Given the description of an element on the screen output the (x, y) to click on. 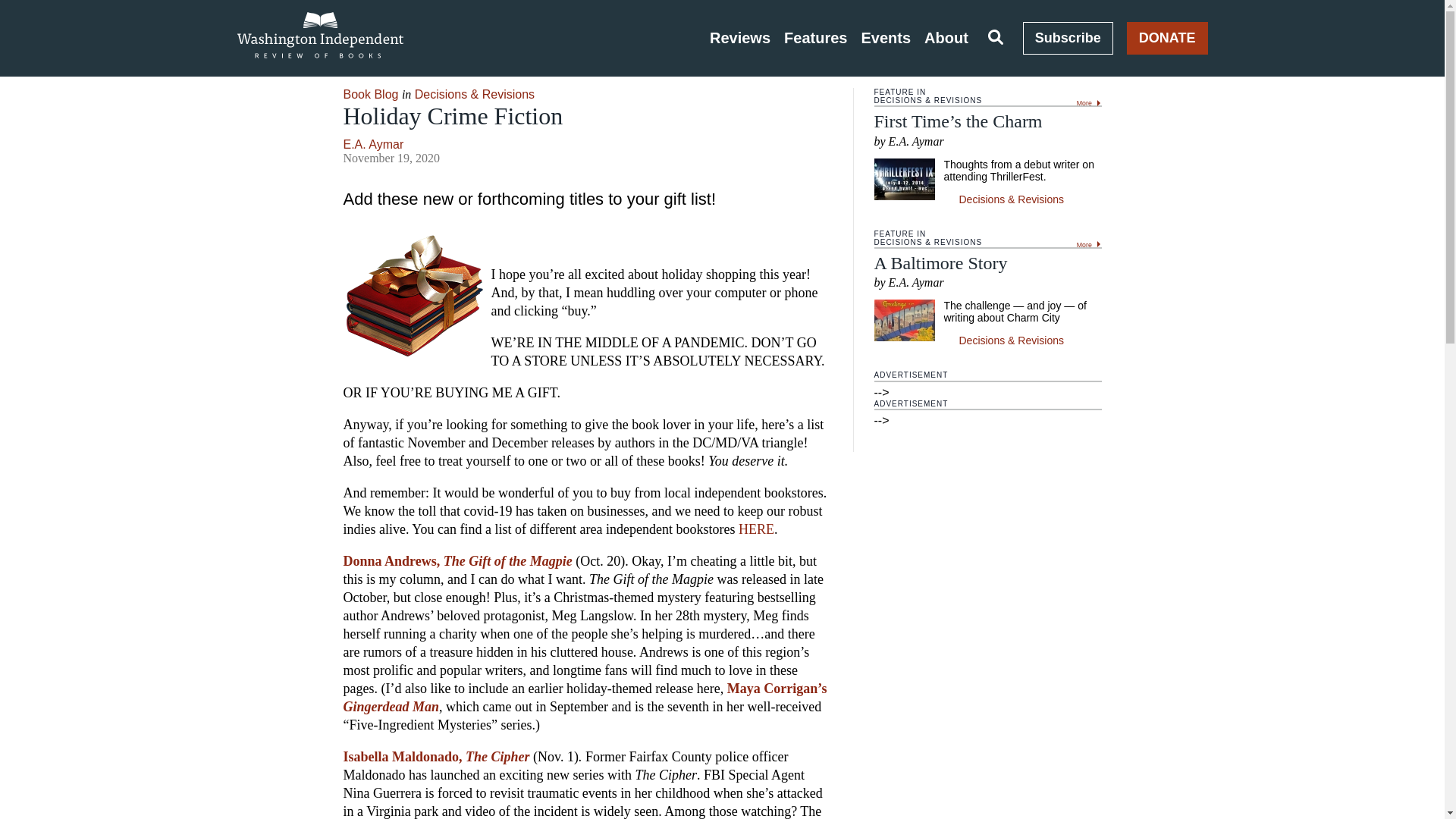
Reviews (740, 37)
HERE (756, 529)
E.A. Aymar (372, 144)
Events (885, 37)
A Baltimore Story (940, 262)
Book Blog (369, 93)
Features (815, 37)
More (1089, 243)
Donna Andrews, The Gift of the Magpie (457, 560)
DONATE (1167, 38)
